Given the description of an element on the screen output the (x, y) to click on. 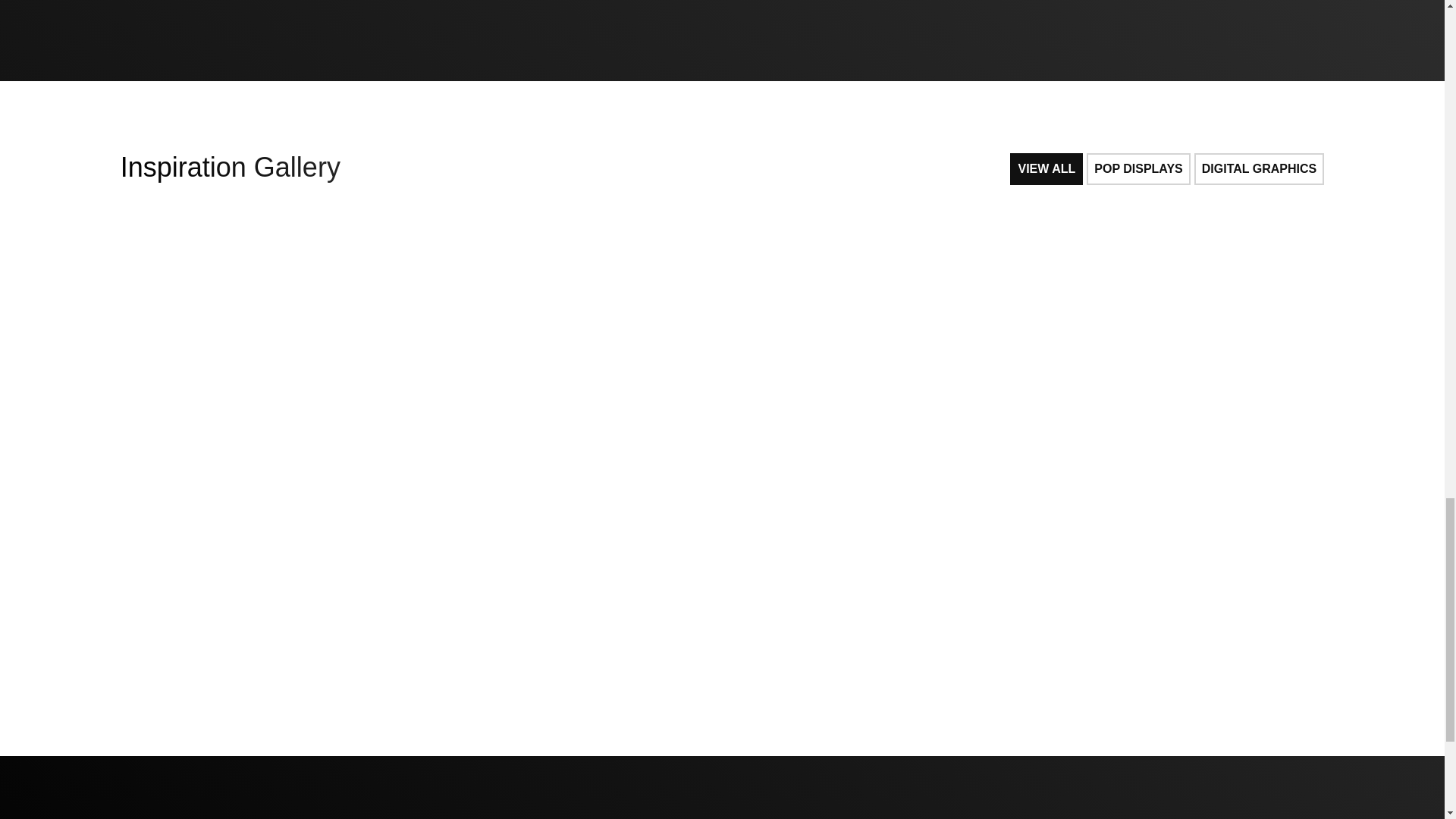
POP DISPLAYS (1138, 169)
DIGITAL GRAPHICS (1258, 169)
VIEW ALL (1046, 169)
